Given the description of an element on the screen output the (x, y) to click on. 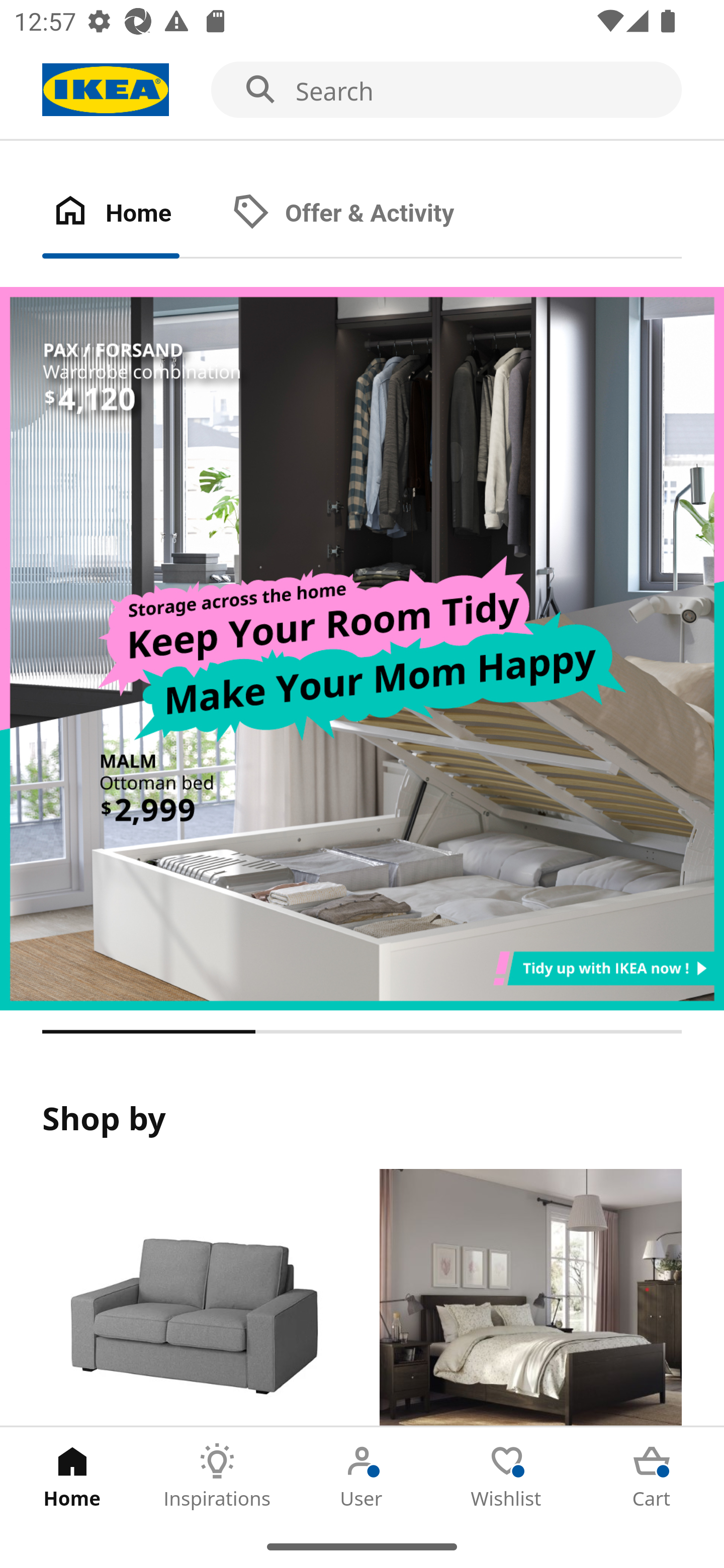
Search (361, 90)
Home
Tab 1 of 2 (131, 213)
Offer & Activity
Tab 2 of 2 (363, 213)
Products (192, 1297)
Rooms (530, 1297)
Home
Tab 1 of 5 (72, 1476)
Inspirations
Tab 2 of 5 (216, 1476)
User
Tab 3 of 5 (361, 1476)
Wishlist
Tab 4 of 5 (506, 1476)
Cart
Tab 5 of 5 (651, 1476)
